Given the description of an element on the screen output the (x, y) to click on. 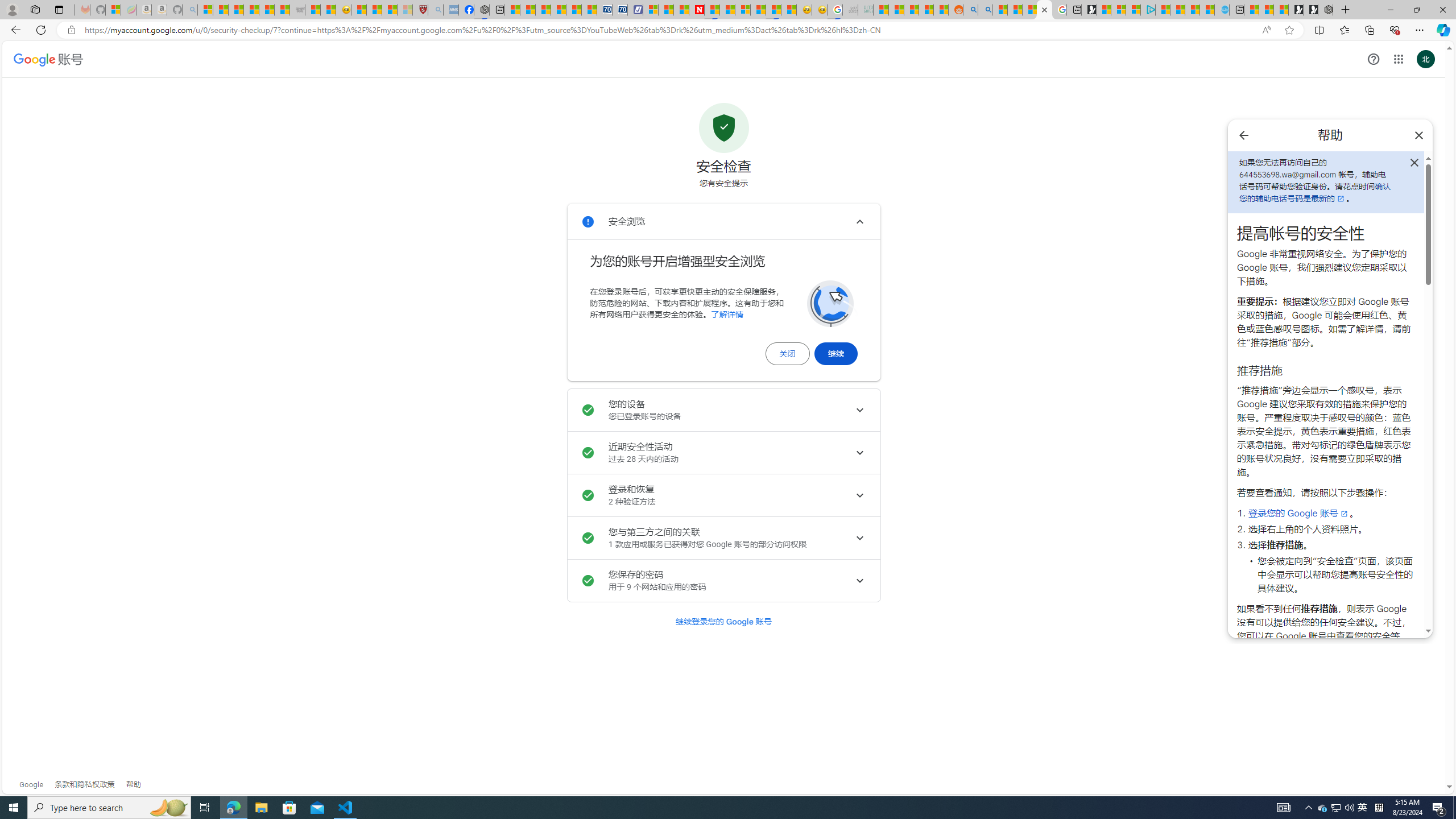
Recipes - MSN (358, 9)
Newsweek - News, Analysis, Politics, Business, Technology (696, 9)
